Given the description of an element on the screen output the (x, y) to click on. 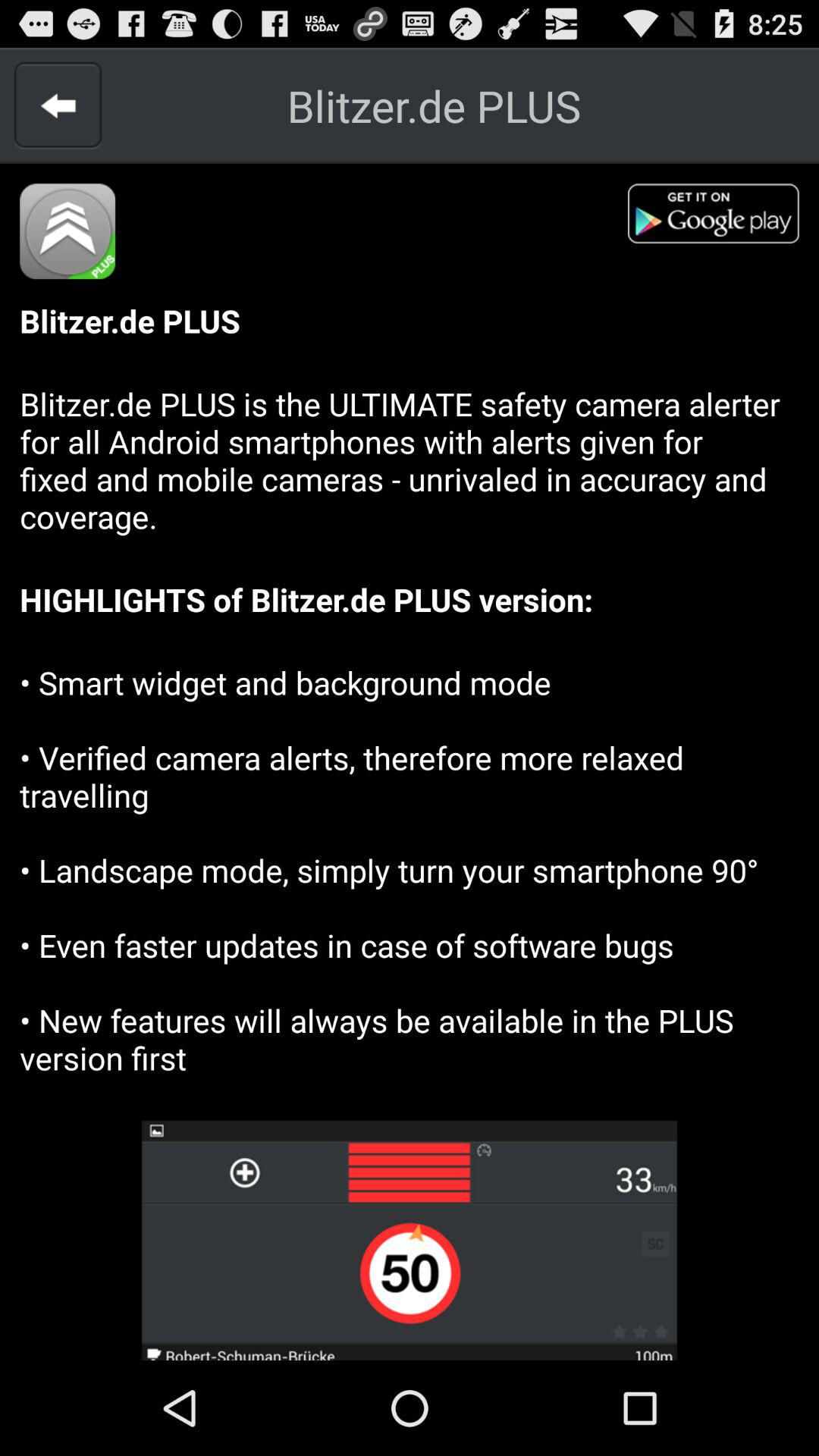
click the app next to blitzer.de plus app (57, 105)
